Given the description of an element on the screen output the (x, y) to click on. 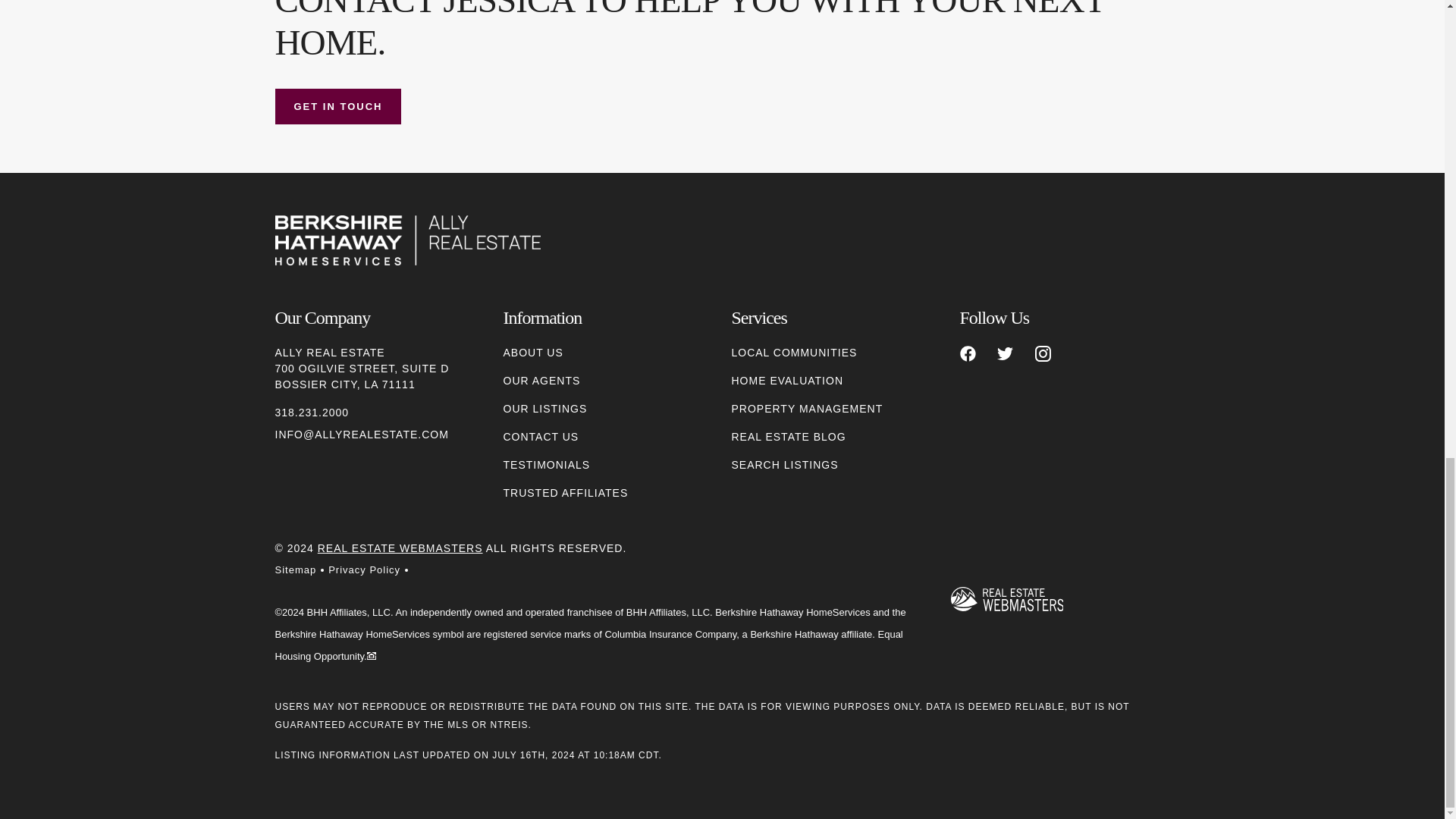
GET IN TOUCH (338, 106)
318.231.2000 (312, 412)
TWITTER (1005, 353)
FACEBOOK (967, 353)
